Given the description of an element on the screen output the (x, y) to click on. 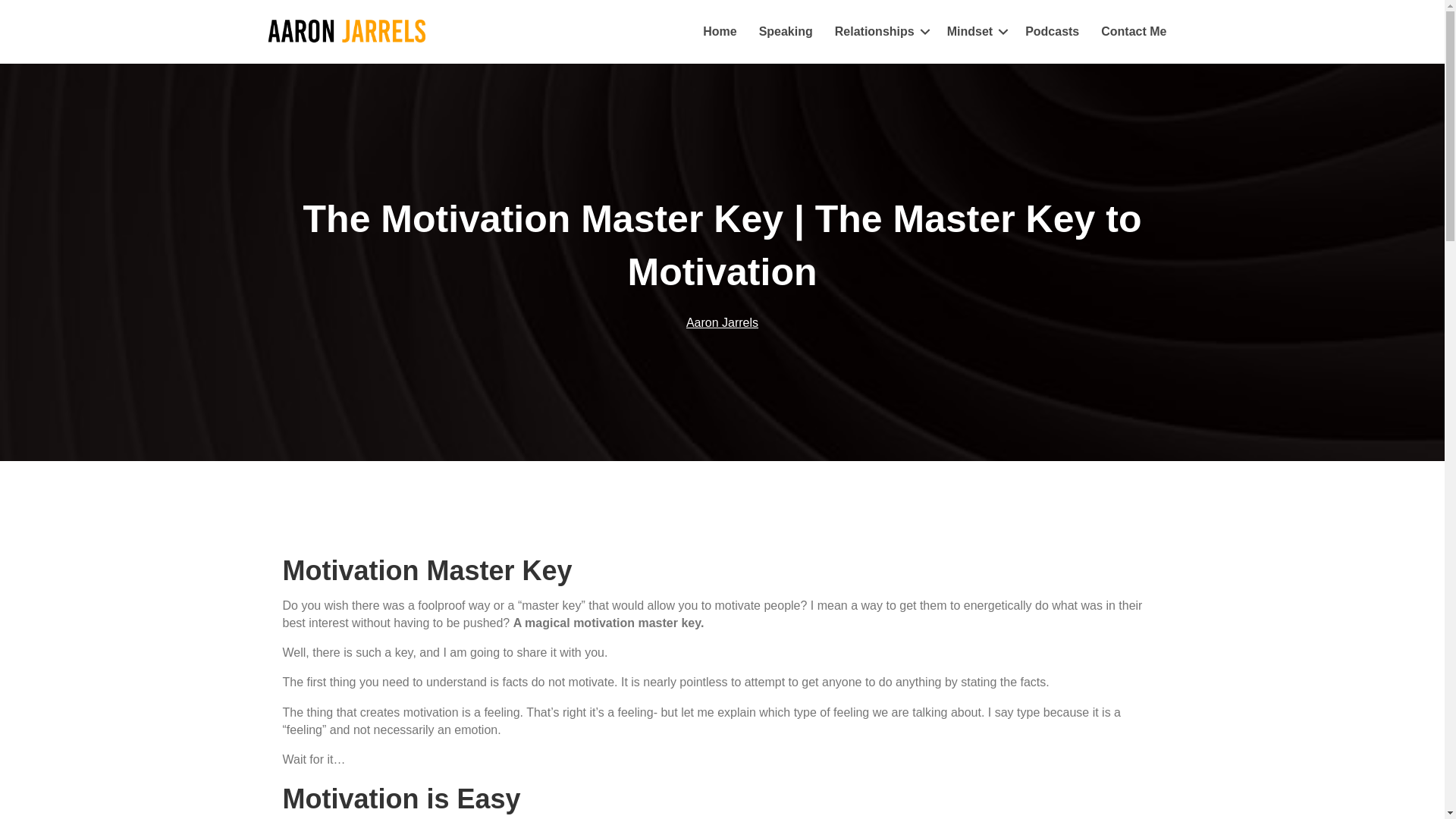
Home (719, 31)
Mindset (974, 31)
Relationships (880, 31)
Speaking (786, 31)
Contact Me (1133, 31)
Aaron Jarrels (721, 322)
Podcasts (1051, 31)
Long Logo (345, 31)
